Given the description of an element on the screen output the (x, y) to click on. 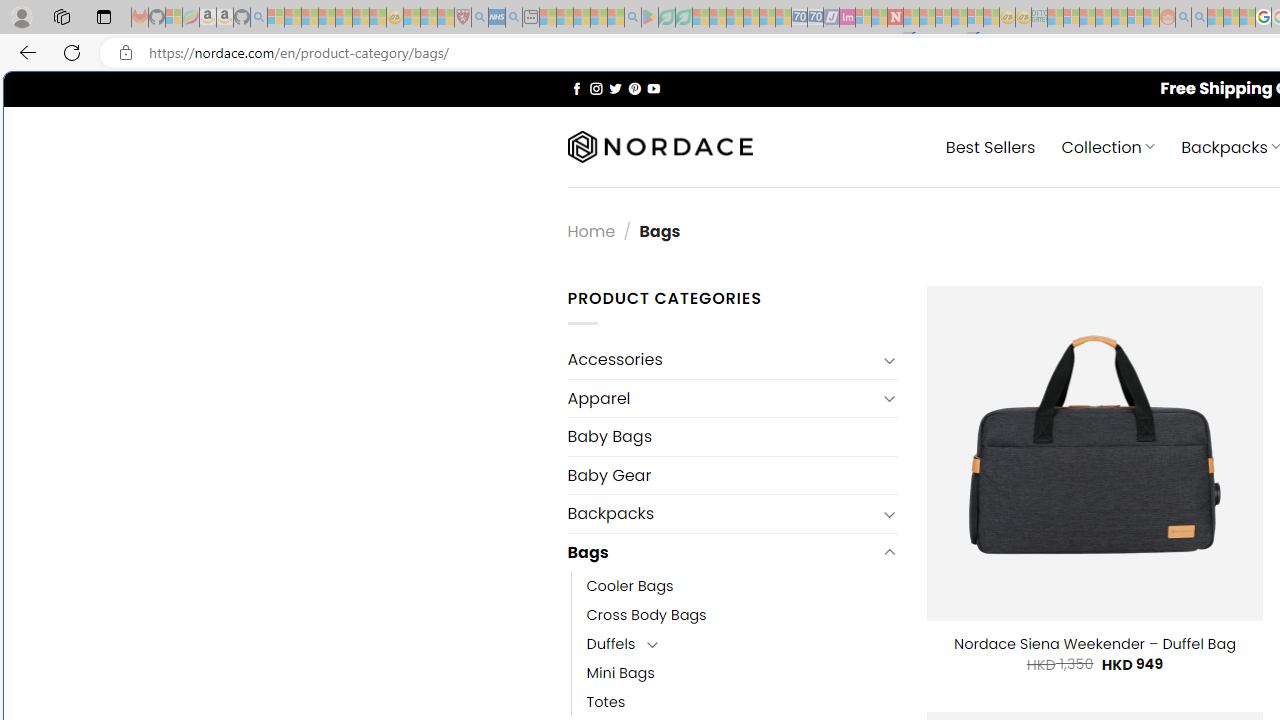
Baby Gear (732, 475)
